Given the description of an element on the screen output the (x, y) to click on. 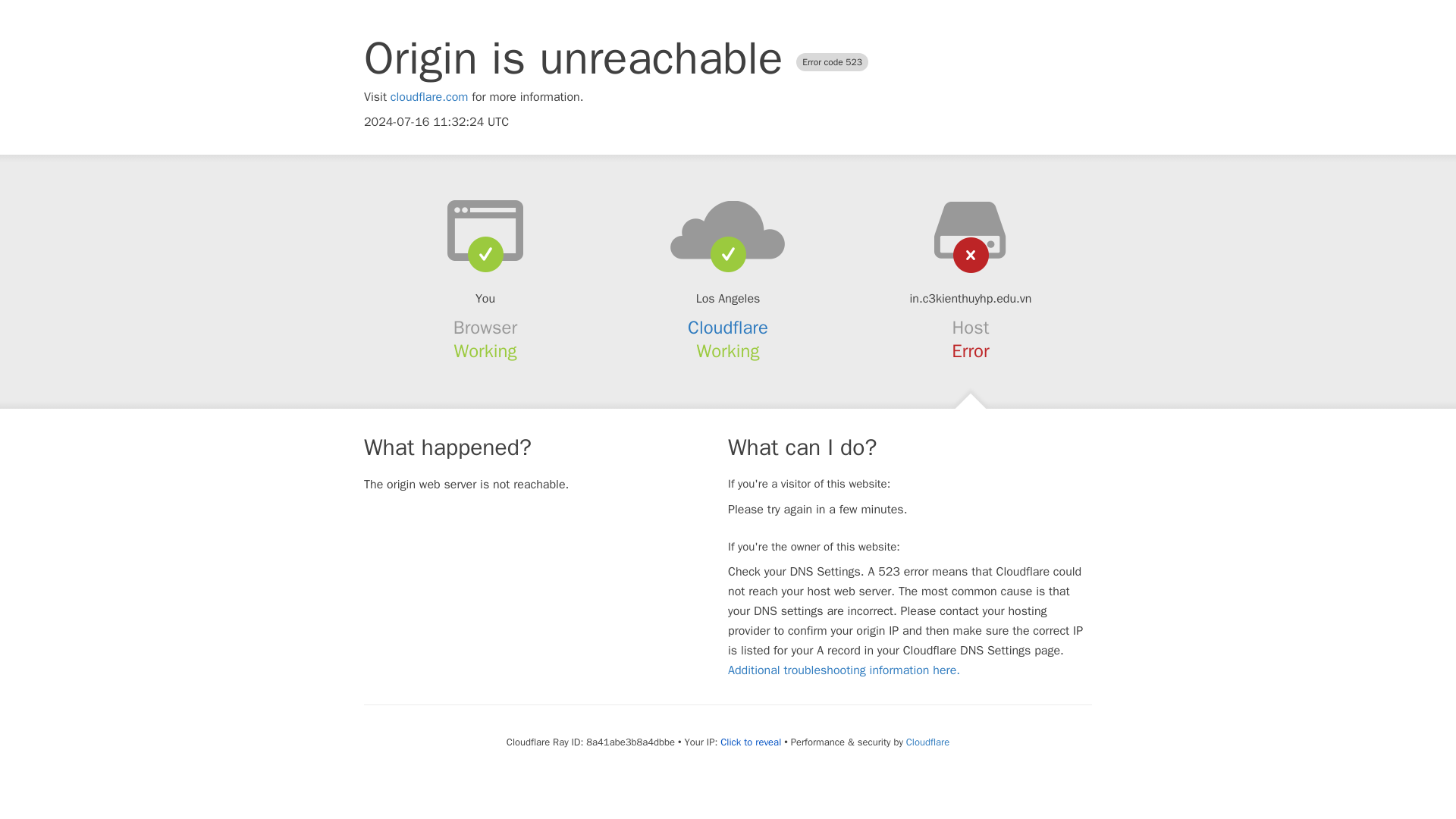
Cloudflare (727, 327)
Click to reveal (750, 742)
Additional troubleshooting information here. (843, 670)
Cloudflare (927, 741)
cloudflare.com (429, 96)
